Given the description of an element on the screen output the (x, y) to click on. 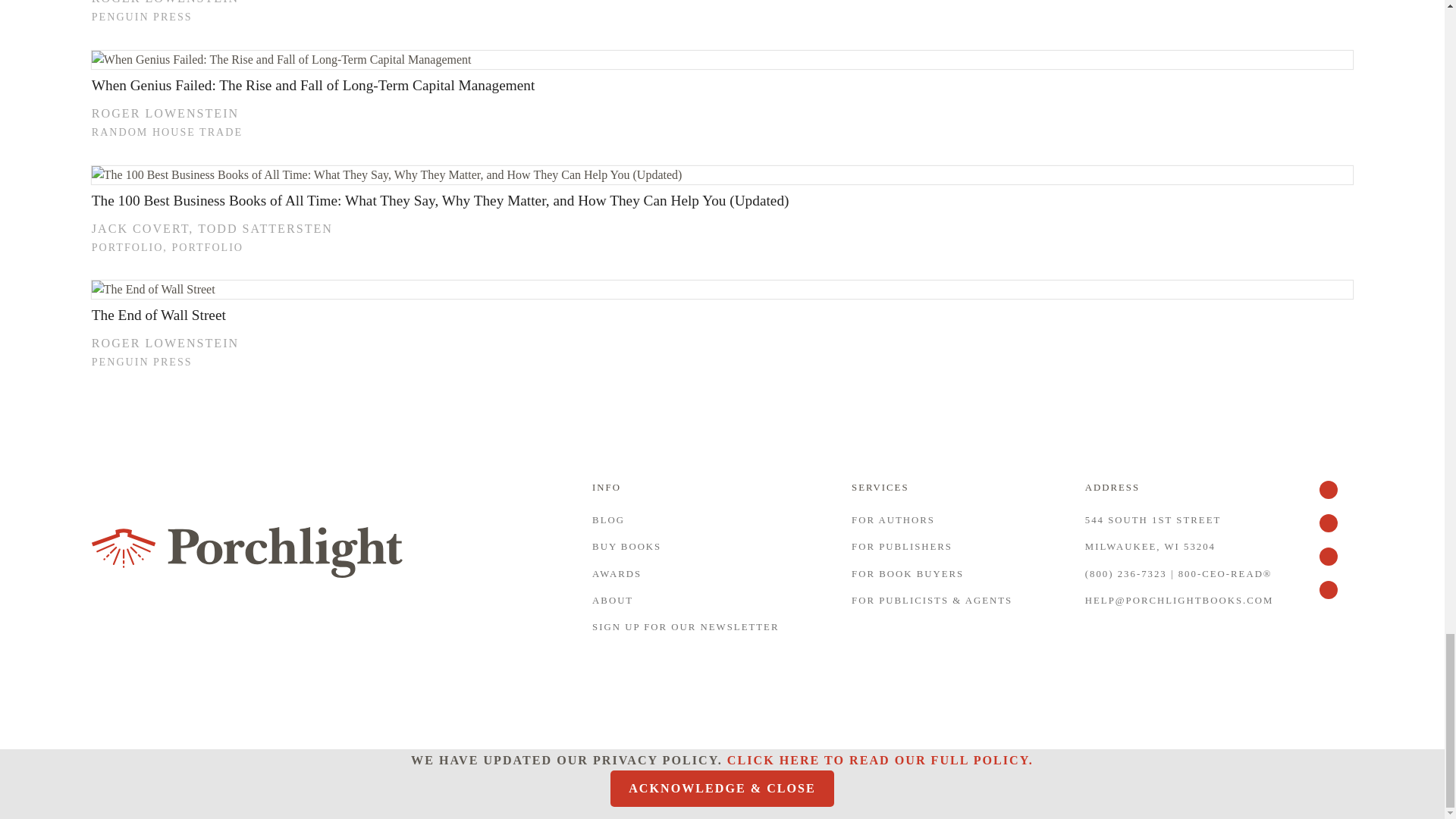
Twitter (1335, 497)
The End of Wall Street (721, 289)
Facebook (1335, 530)
Instagram (1335, 597)
LinkedIn (1335, 563)
